Given the description of an element on the screen output the (x, y) to click on. 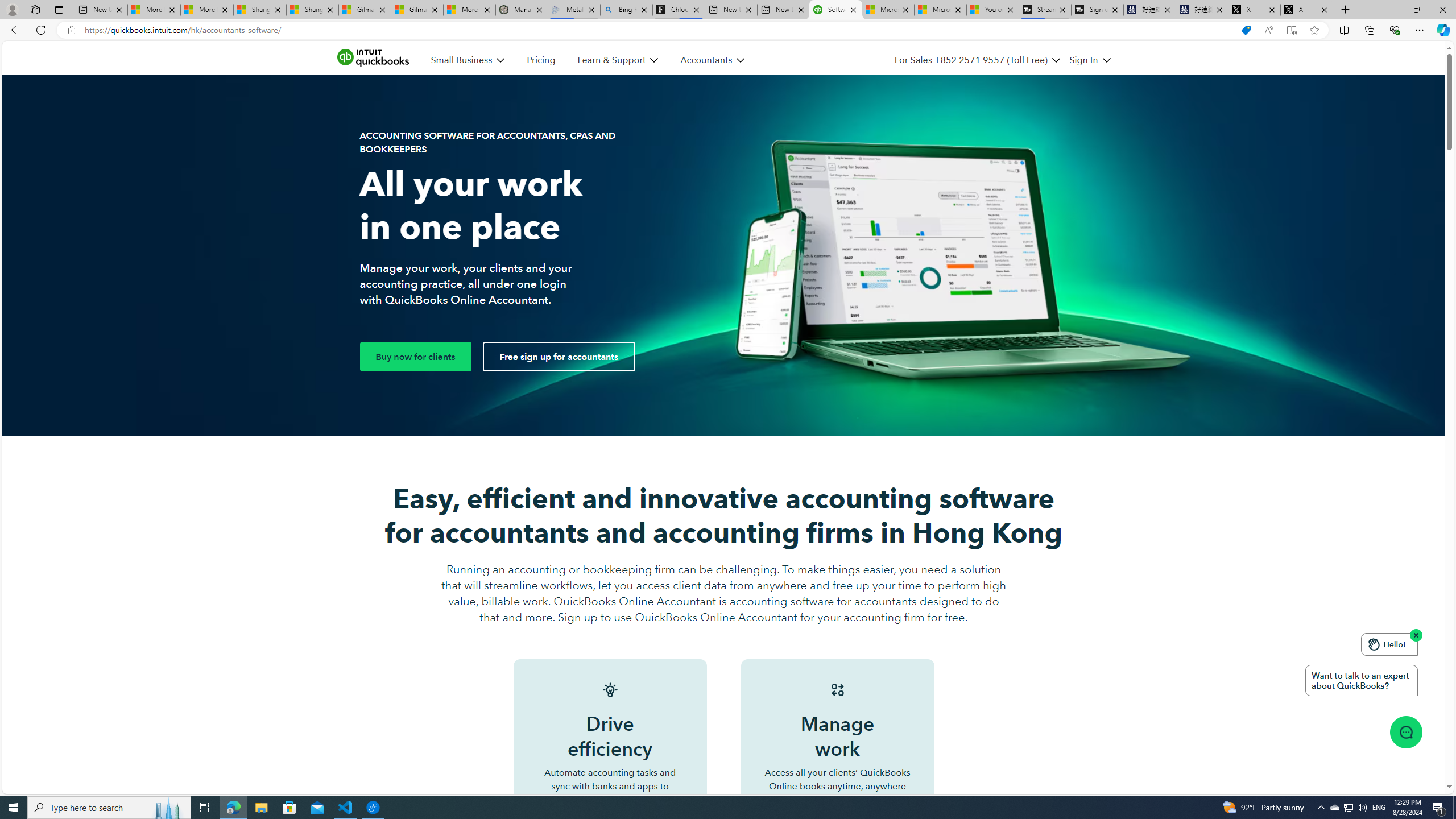
A laptop with a green screen and a white background. (723, 255)
Pricing (541, 60)
quickbooks (372, 57)
Sign In (1089, 60)
Learn & Support (611, 60)
For Sales +852 2571 9557 (Toll Free) (977, 60)
